Given the description of an element on the screen output the (x, y) to click on. 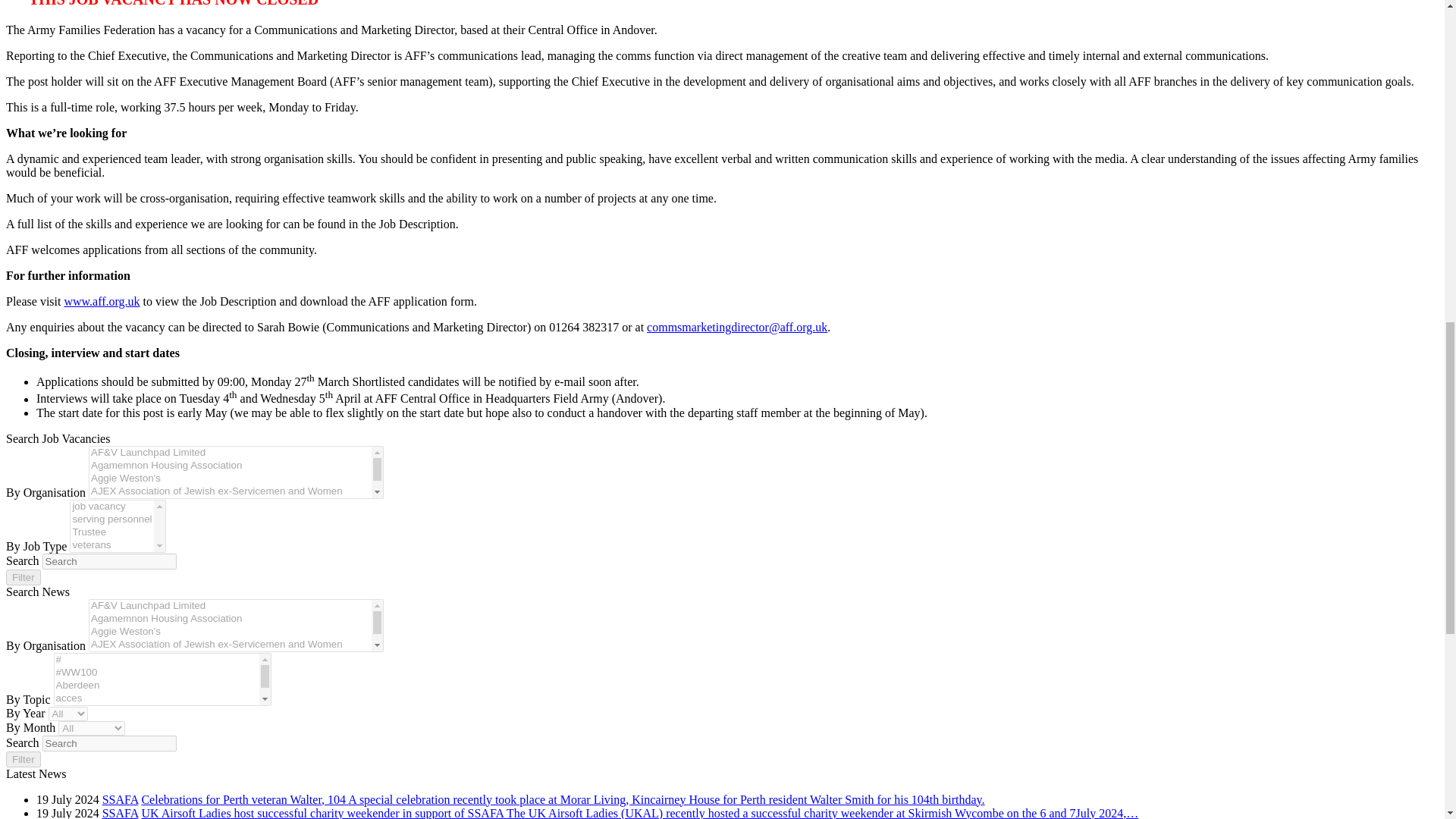
Filter (22, 759)
Look Celebrations for Perth veteran Walter, 104 (562, 799)
Filter (22, 577)
